Given the description of an element on the screen output the (x, y) to click on. 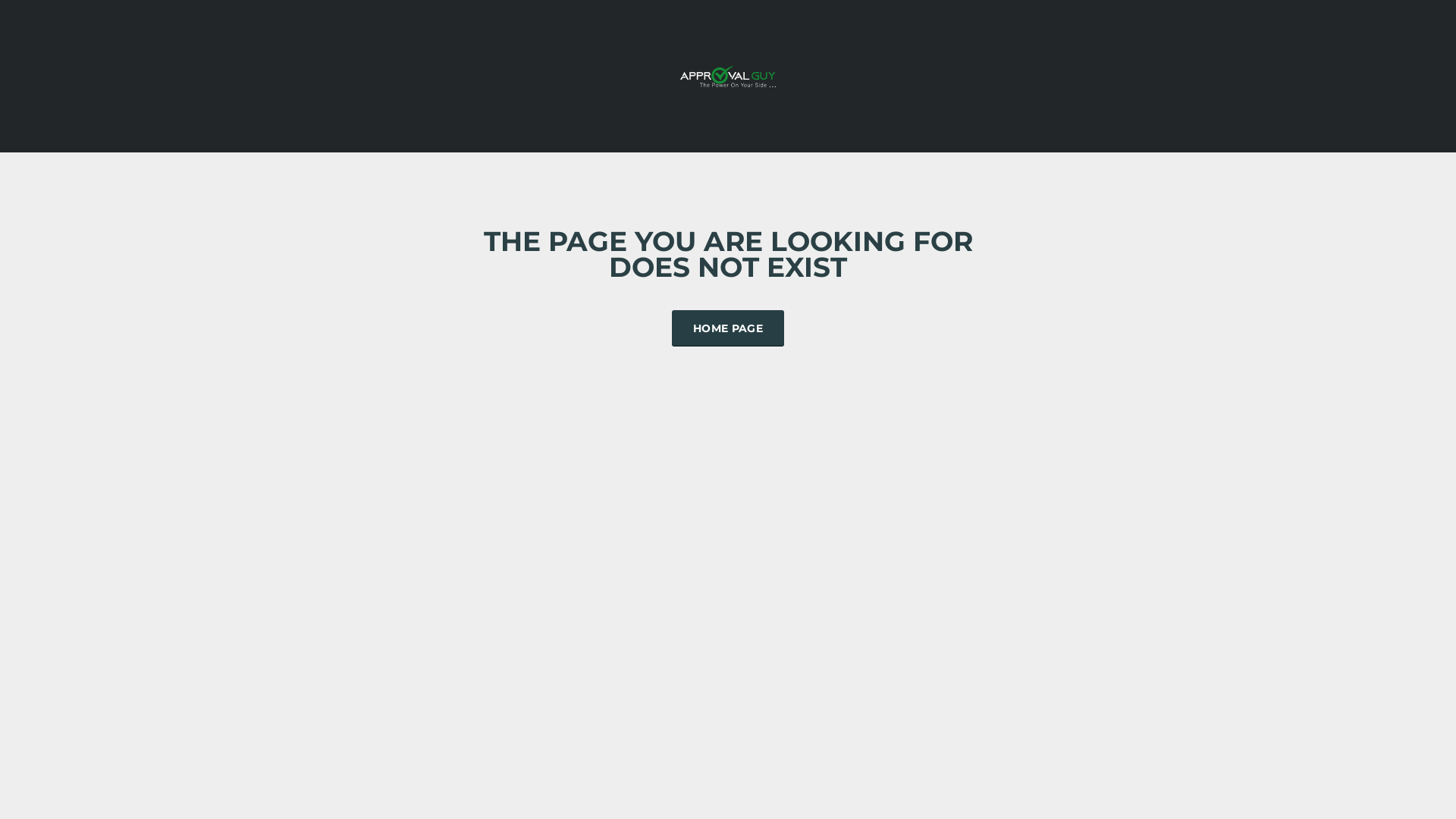
HOME PAGE Element type: text (727, 327)
Home Element type: hover (727, 74)
